Given the description of an element on the screen output the (x, y) to click on. 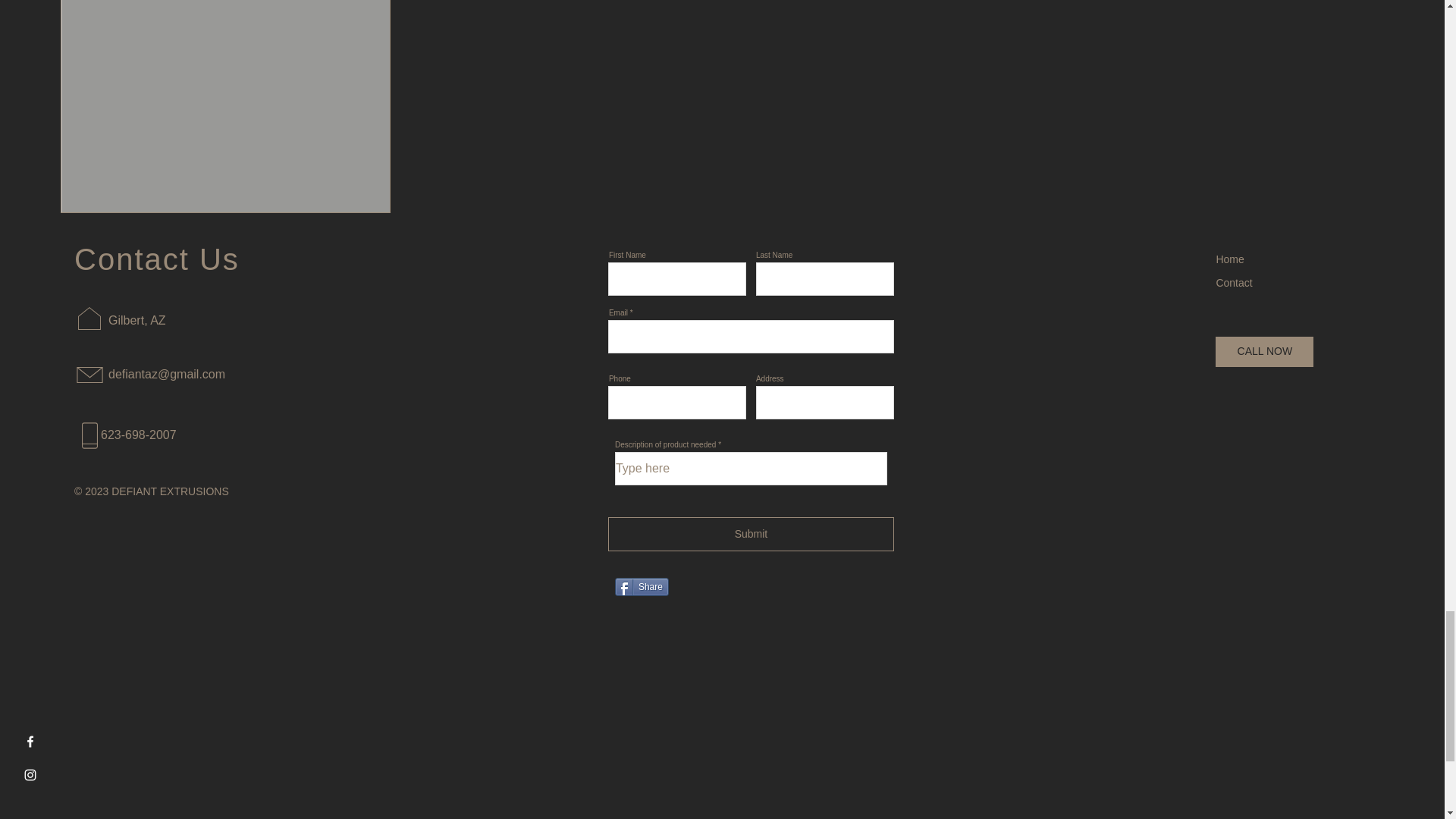
Share (641, 587)
Contact (1233, 282)
CALL NOW (1264, 351)
Home (1229, 259)
Submit (750, 533)
Share (641, 587)
